Given the description of an element on the screen output the (x, y) to click on. 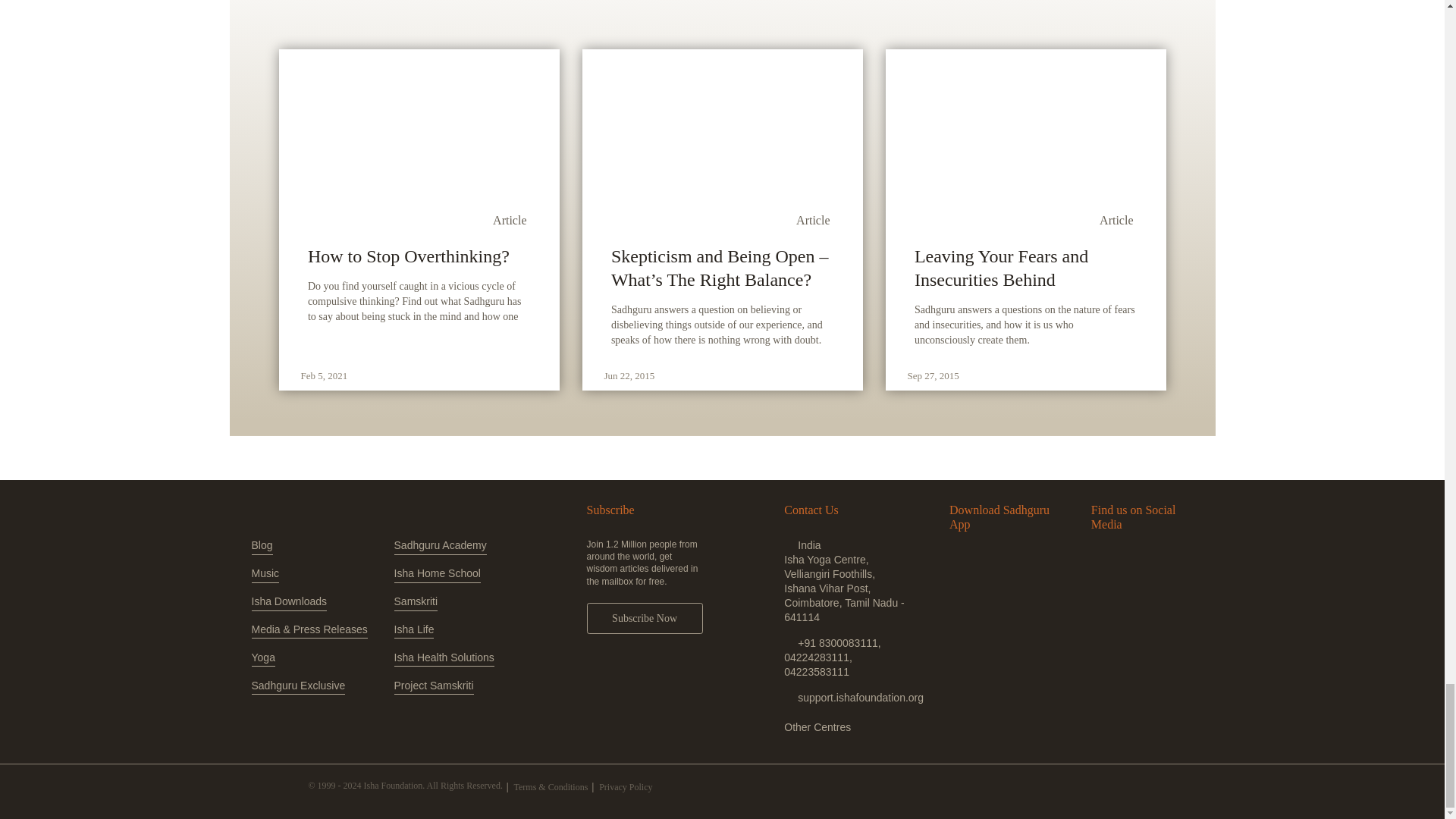
Leaving Your Fears and Insecurities Behind (1025, 267)
How to Stop Overthinking? (418, 256)
